Given the description of an element on the screen output the (x, y) to click on. 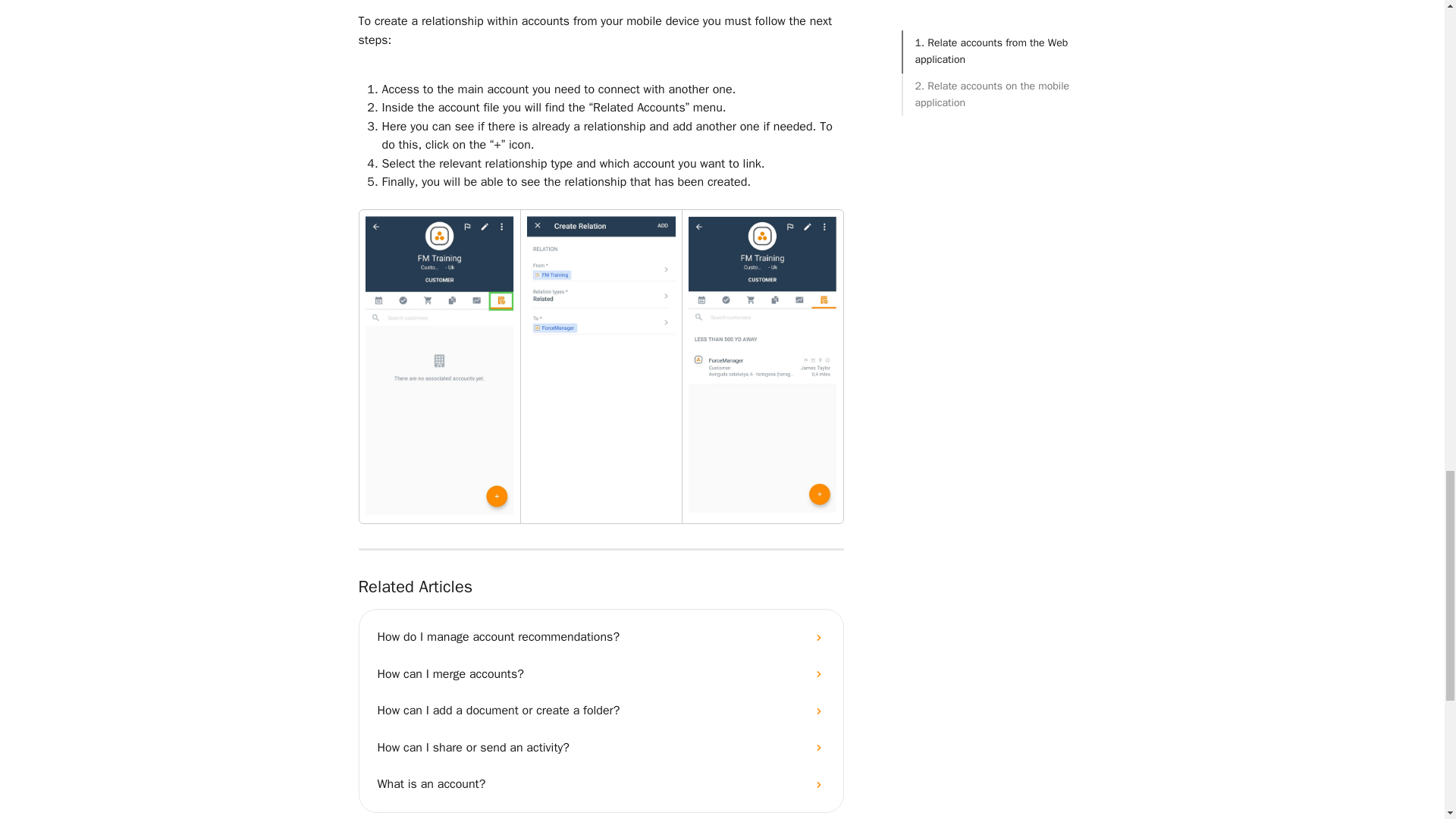
How can I merge accounts? (601, 674)
How can I add a document or create a folder? (601, 710)
How do I manage account recommendations? (601, 637)
What is an account? (601, 783)
How can I share or send an activity? (601, 747)
